Given the description of an element on the screen output the (x, y) to click on. 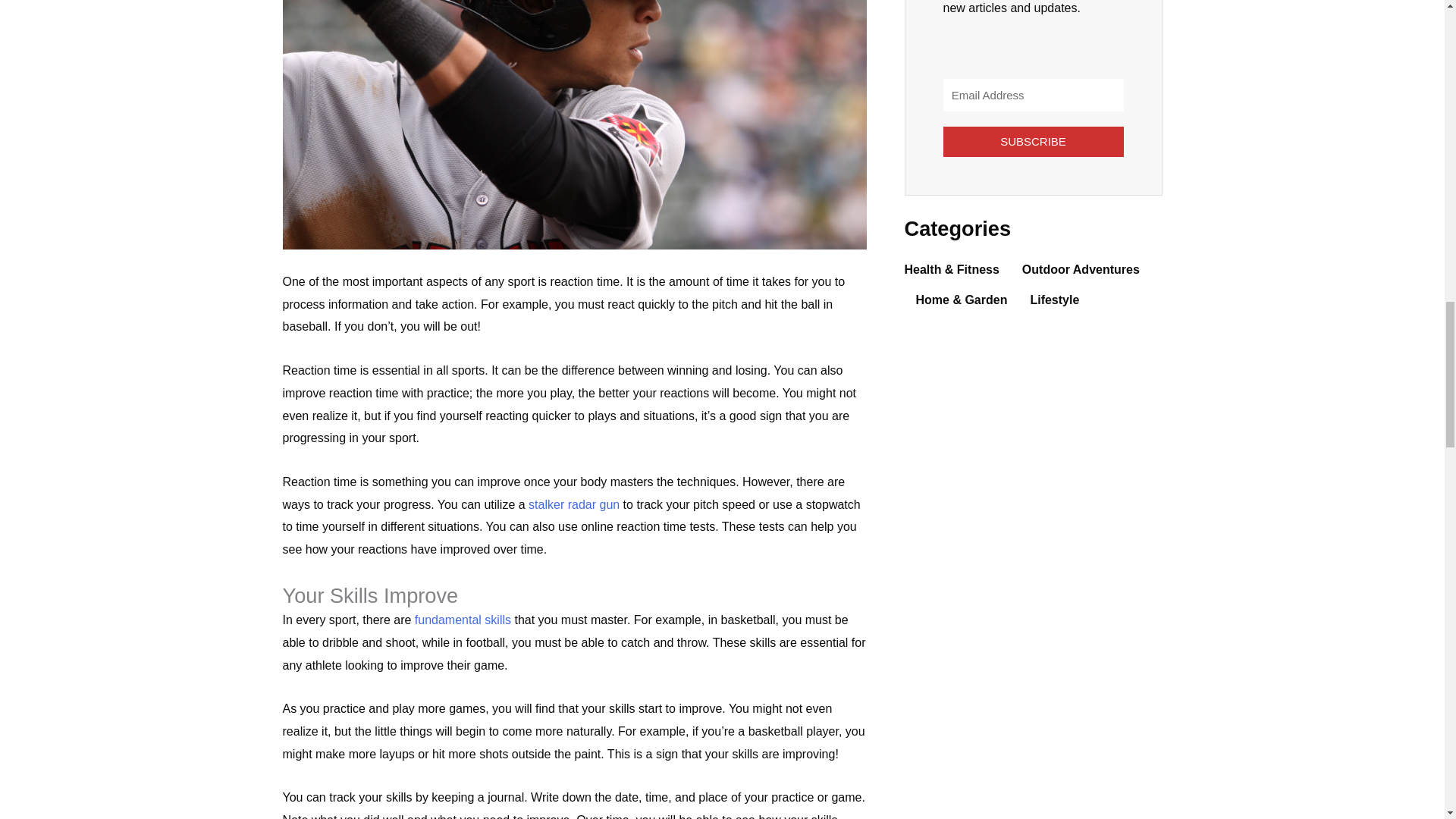
stalker radar gun (574, 504)
SUBSCRIBE (1033, 141)
Outdoor Adventures (1081, 269)
Lifestyle (1053, 300)
fundamental skills (462, 619)
